Given the description of an element on the screen output the (x, y) to click on. 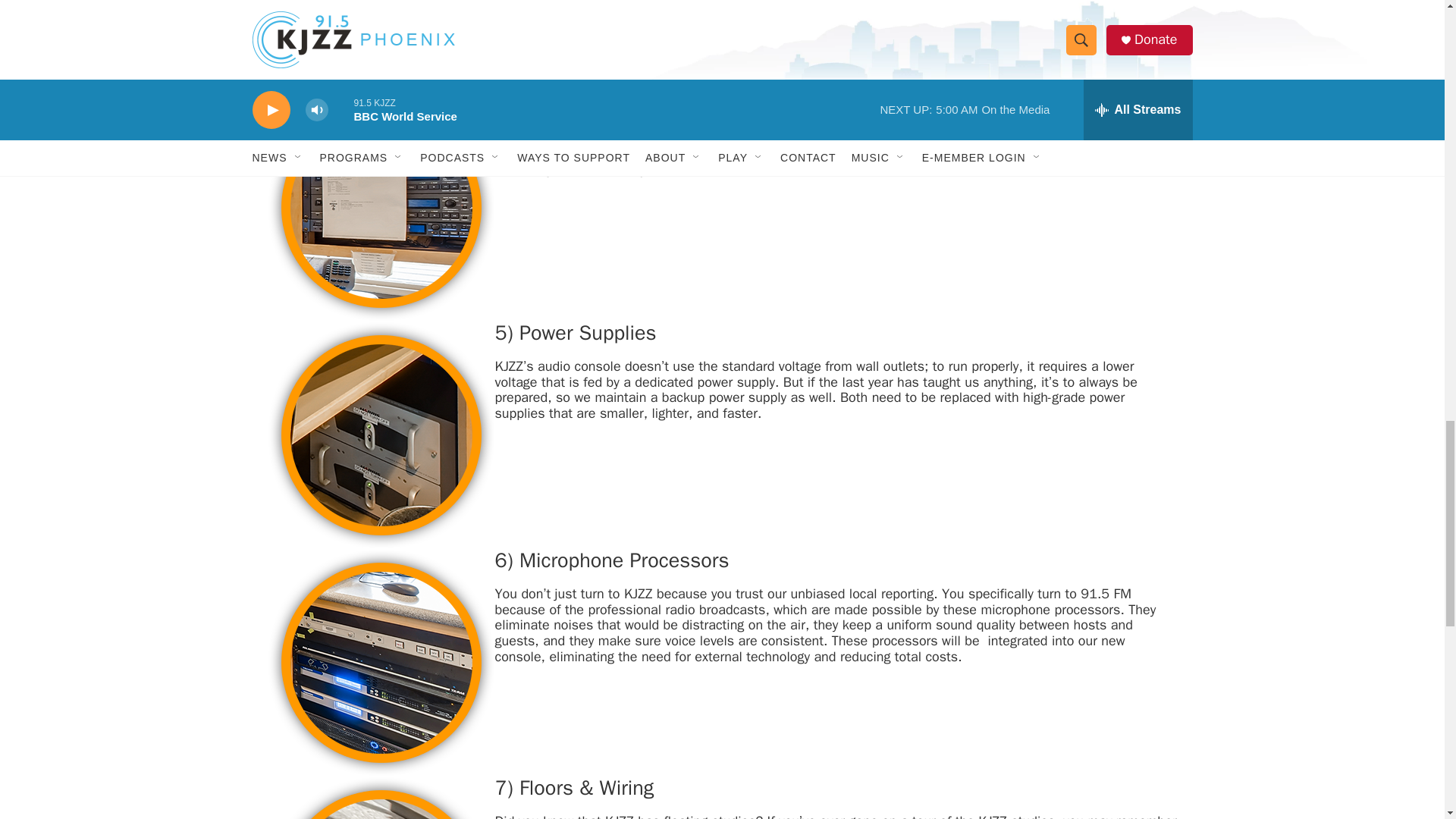
Two light gray metal boxes with handles on either side (380, 434)
Wooden box with two equipment racks installed (380, 662)
Wooden box with three equipment racks installed (380, 207)
Computer screen with multiple elements and windows (380, 47)
